Given the description of an element on the screen output the (x, y) to click on. 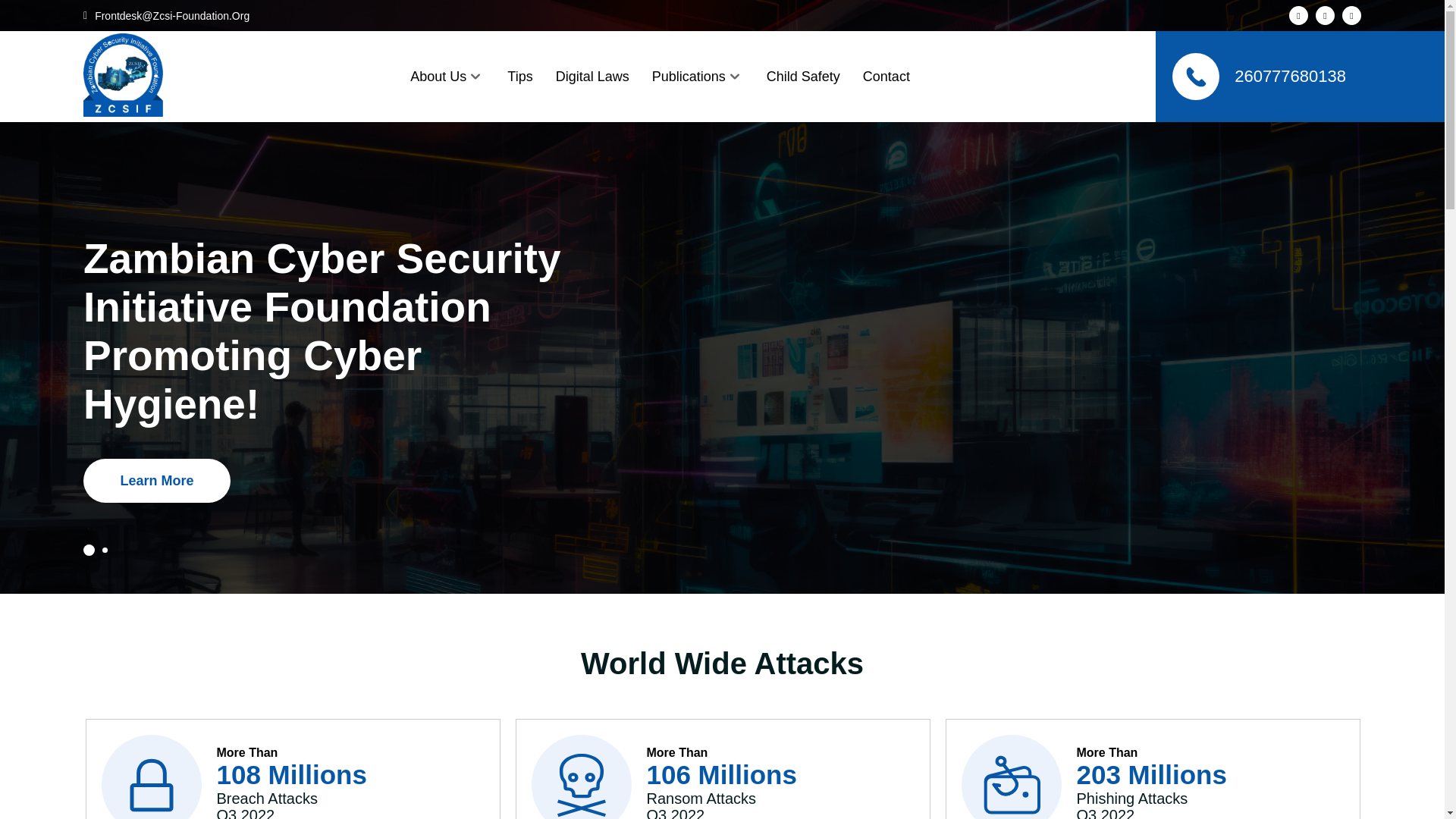
About Us (437, 76)
260777680138 (1259, 76)
Publications (688, 76)
Learn More (156, 480)
1 (88, 550)
Child Safety (803, 76)
Contact (886, 76)
Tips (519, 76)
Digital Laws (592, 76)
